Given the description of an element on the screen output the (x, y) to click on. 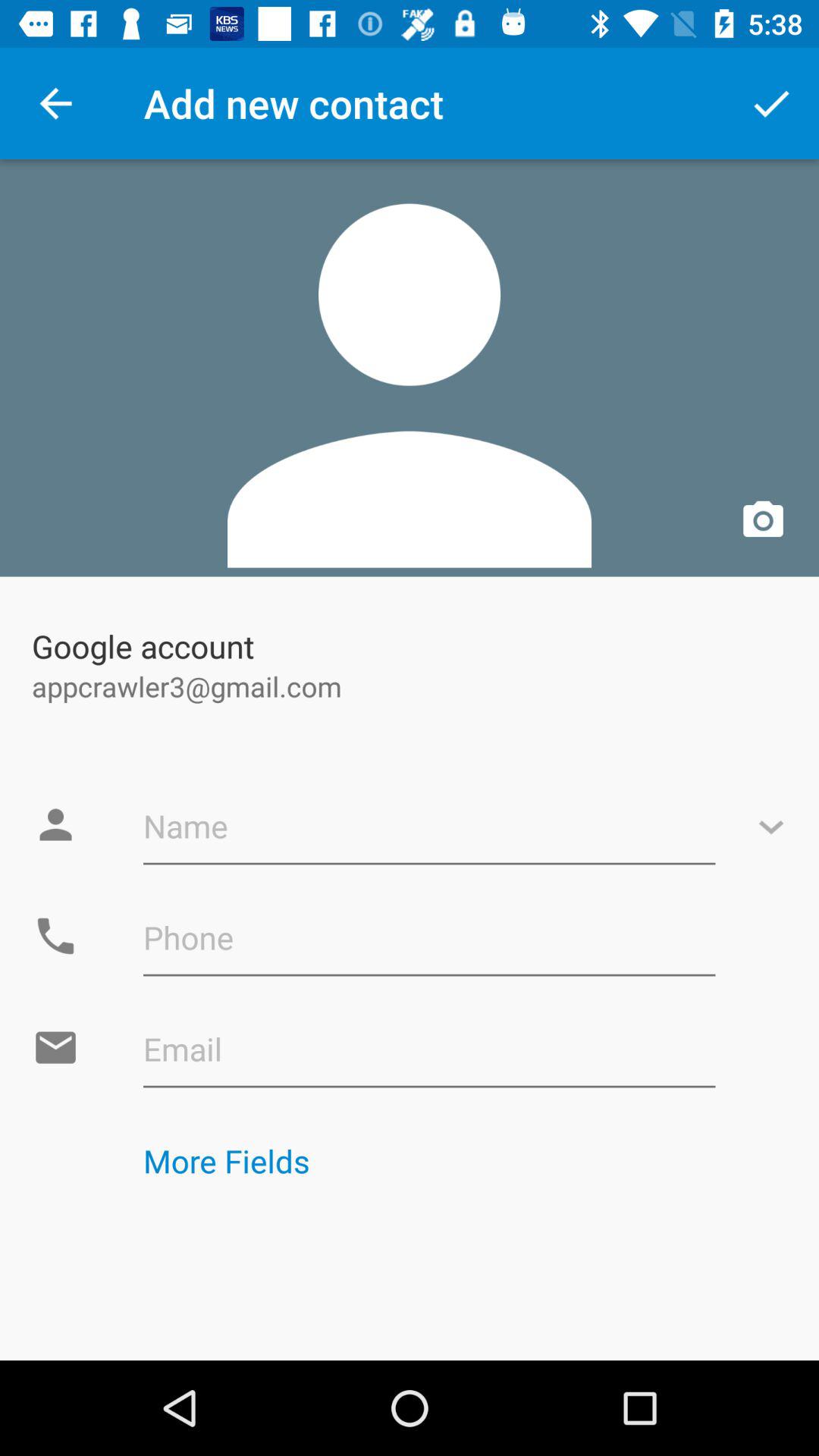
launch icon to the right of add new contact item (771, 103)
